Given the description of an element on the screen output the (x, y) to click on. 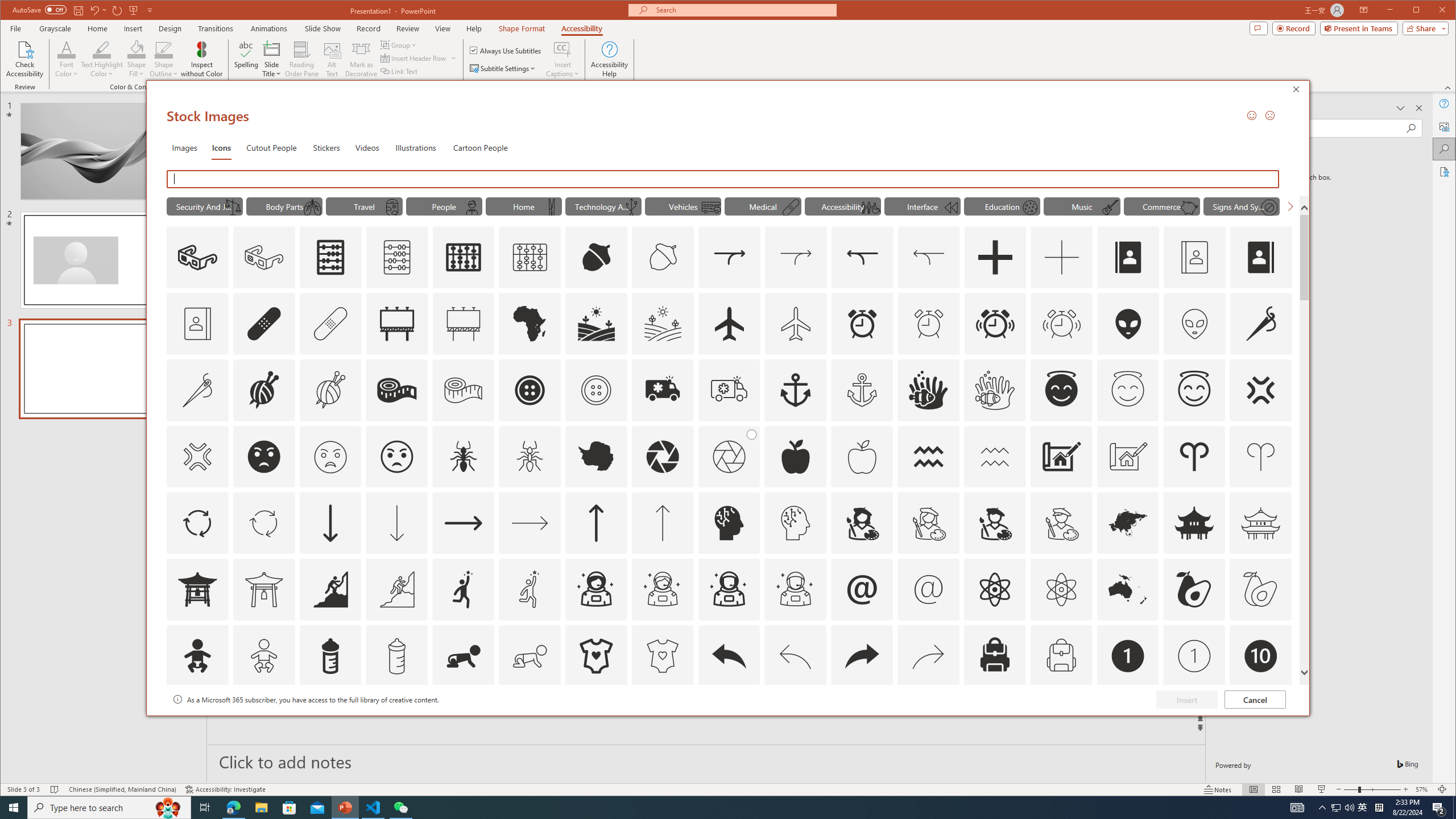
Alt Text (1444, 125)
Text Highlight Color Yellow (102, 48)
AutomationID: Icons_Anchor_M (861, 389)
AutomationID: Icons_AlarmRinging_M (1061, 323)
AutomationID: Icons_ArtistFemale_M (928, 522)
AutomationID: Icons_Advertising_M (462, 323)
AutomationID: Icons_Badge2_M (330, 721)
AutomationID: Icons_Architecture_M (1128, 456)
AutomationID: Icons_Avocado_M (1260, 589)
Font Color Red (66, 48)
AutomationID: Icons_Airplane (729, 323)
